Given the description of an element on the screen output the (x, y) to click on. 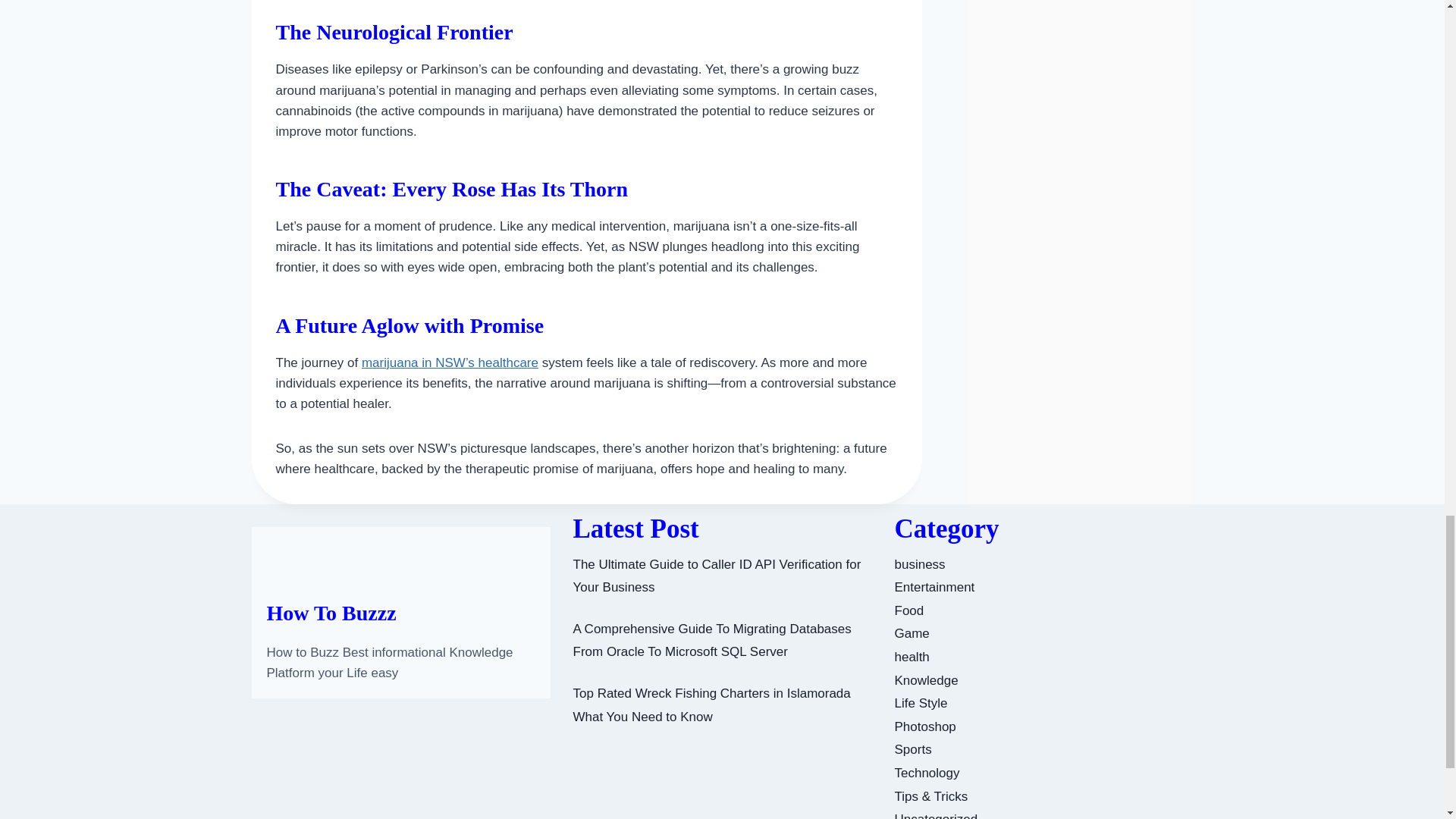
Entertainment (935, 586)
health (912, 657)
Technology (927, 772)
Sports (913, 749)
Game (912, 633)
Life Style (921, 703)
